Given the description of an element on the screen output the (x, y) to click on. 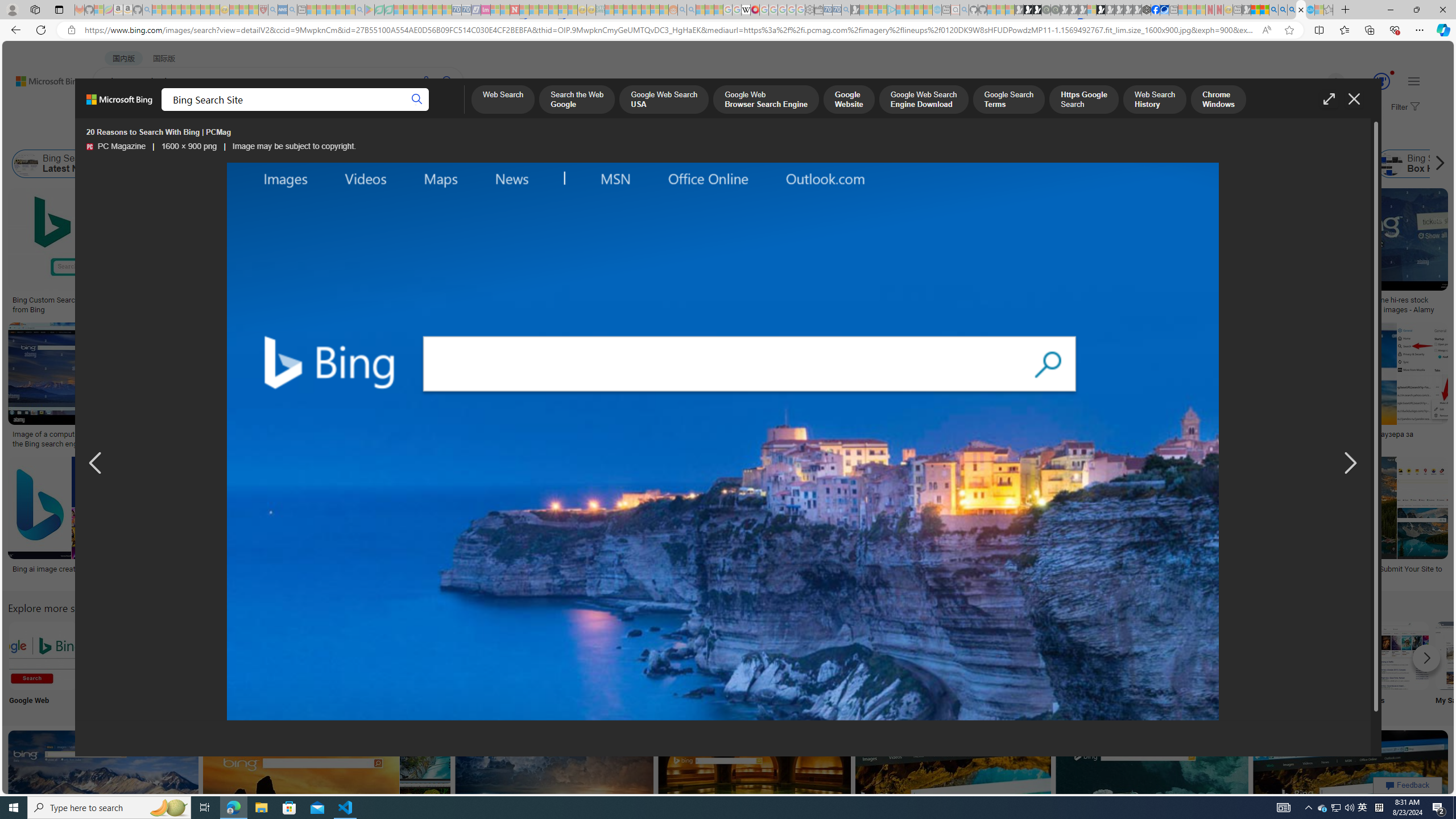
Bing Search Terms (615, 163)
Download Bing Pictures | Wallpapers.comSave (614, 387)
Top 10 Search engine | REALITYPOD - Part 3 (925, 434)
Image size (127, 135)
Bing Home Search Site (1294, 163)
Top 10 Search engine | REALITYPOD - Part 3 (939, 434)
Bing the Search Engine Engine (868, 665)
Bing Web (1229, 163)
Bing Movies Search Movies (1393, 665)
